Given the description of an element on the screen output the (x, y) to click on. 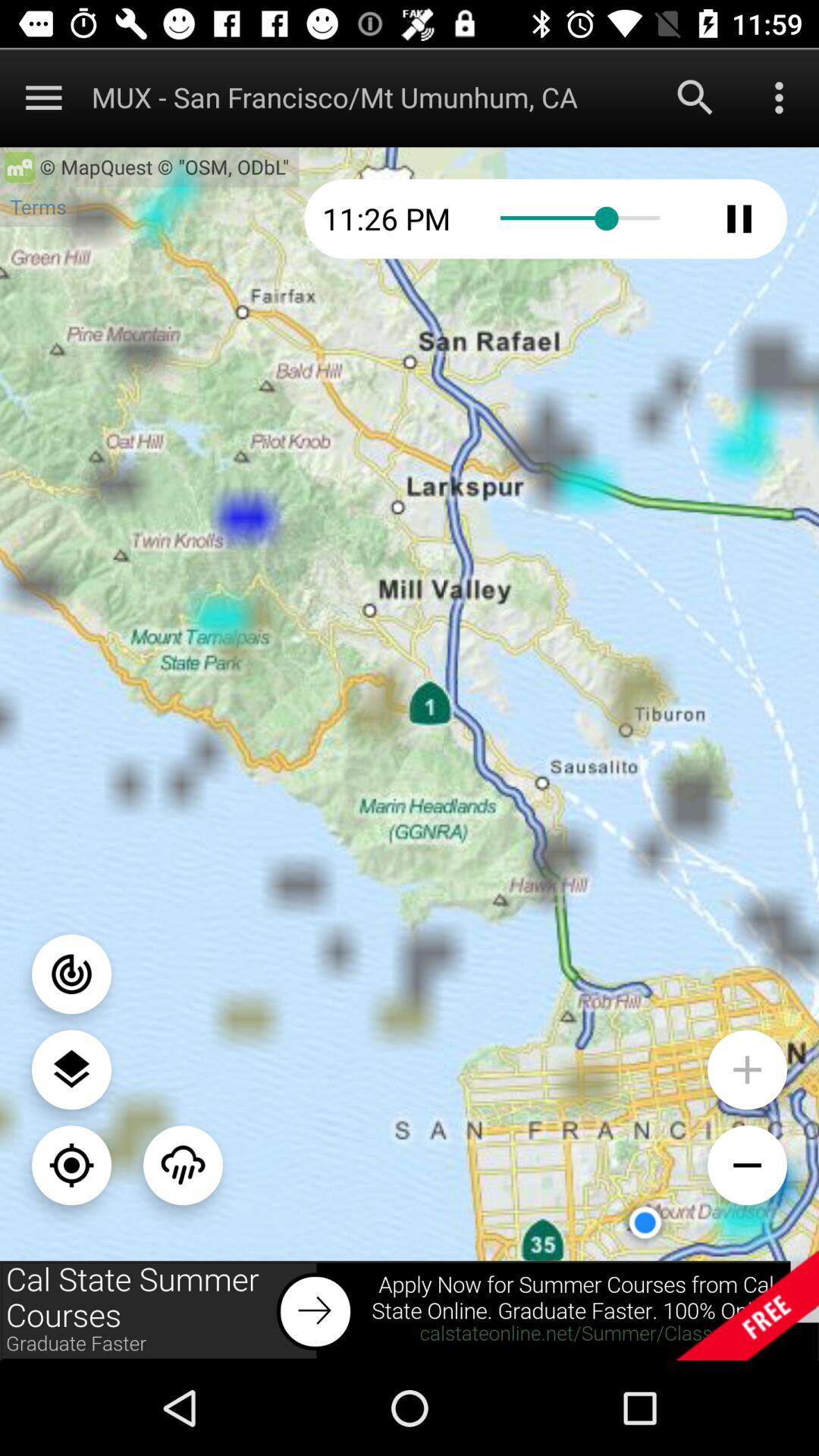
menu button (43, 97)
